Given the description of an element on the screen output the (x, y) to click on. 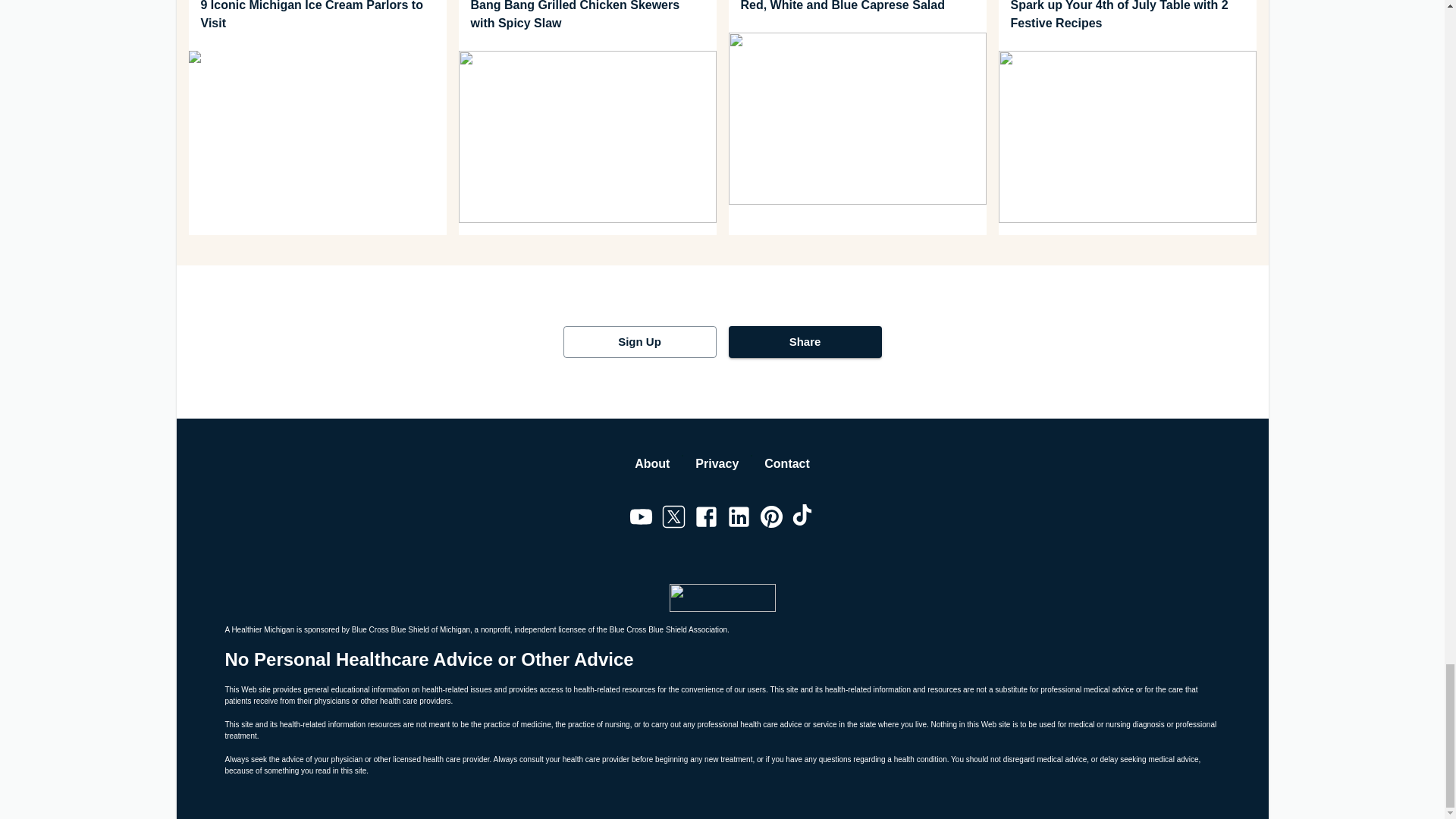
9 Iconic Michigan Ice Cream Parlors to Visit  (316, 16)
Bang Bang Grilled Chicken Skewers with Spicy Slaw (587, 16)
Red, White and Blue Caprese Salad (856, 7)
